Given the description of an element on the screen output the (x, y) to click on. 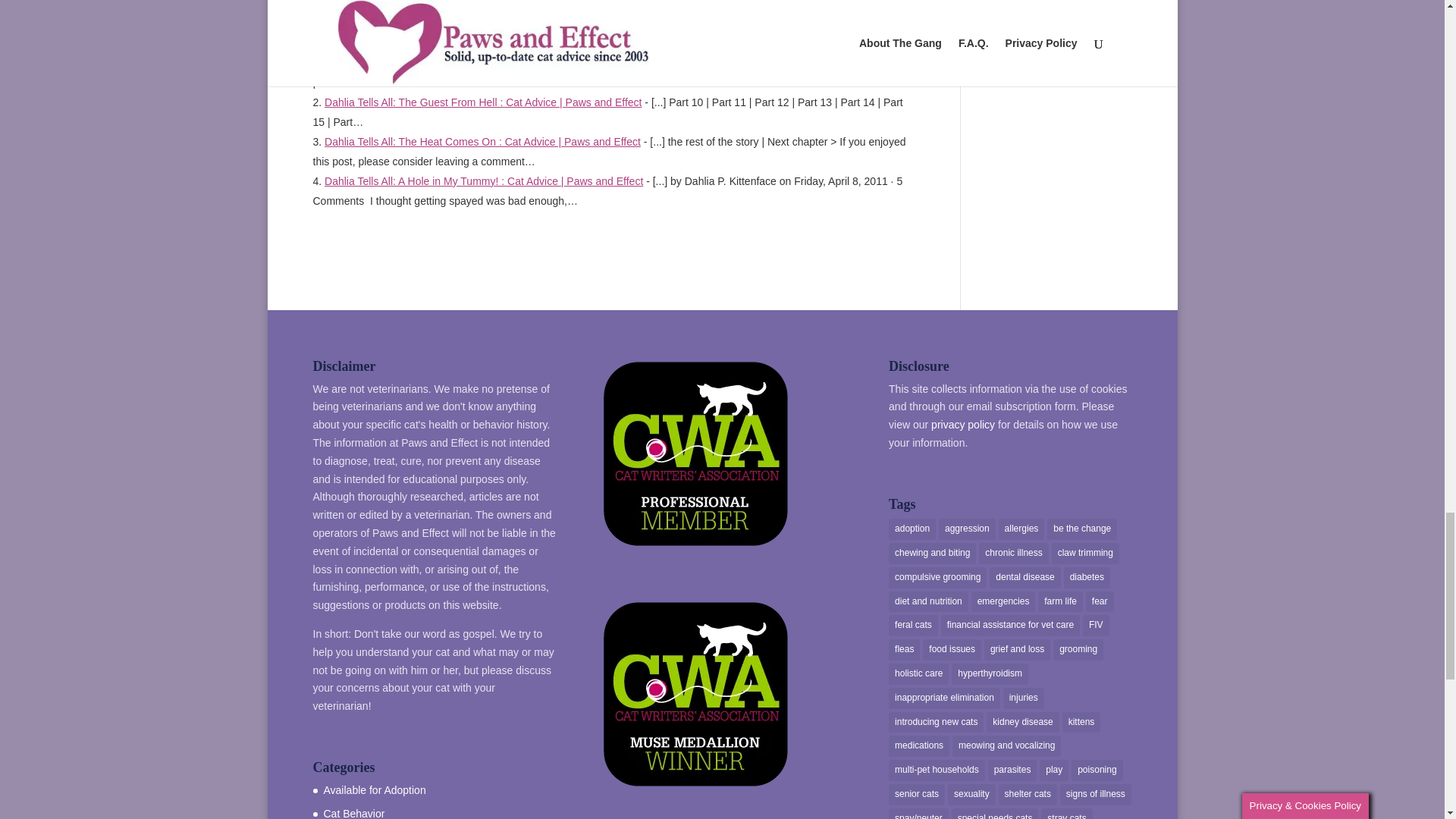
Available for Adoption (374, 789)
Cat Behavior (353, 813)
